Given the description of an element on the screen output the (x, y) to click on. 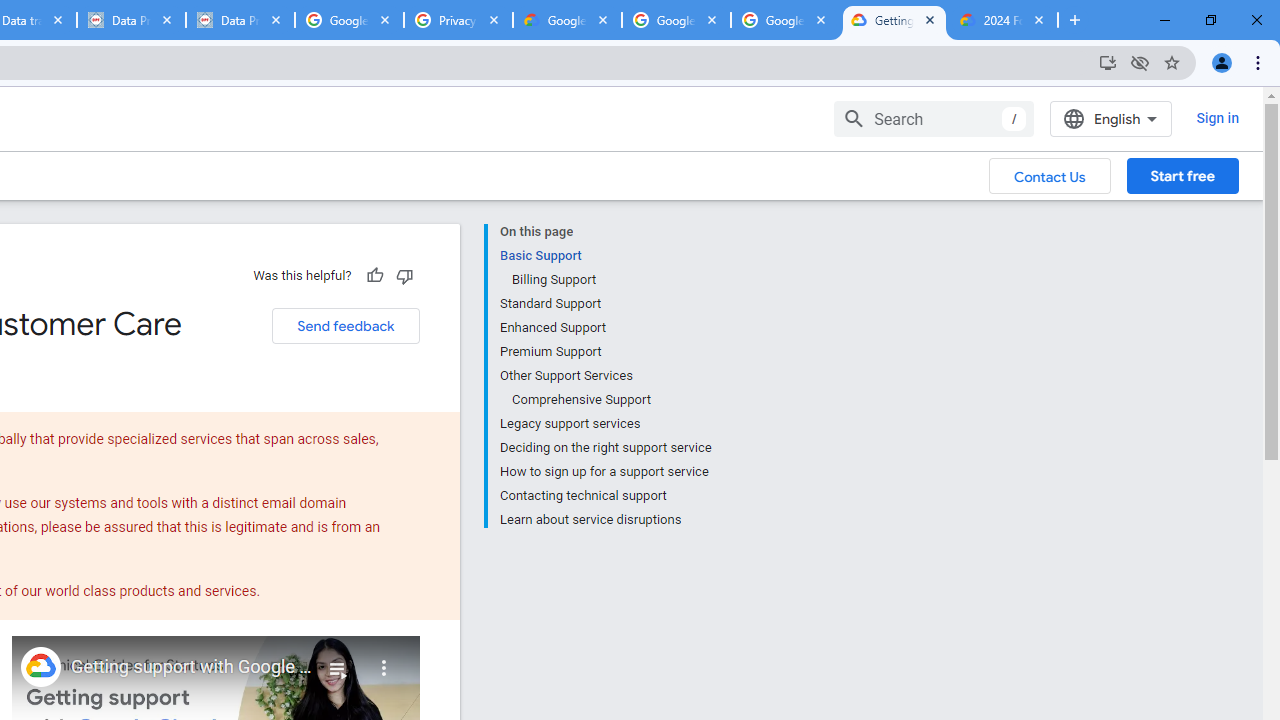
Contact Us (1050, 175)
Getting support with Google Cloud Customer Care (191, 667)
How to sign up for a support service (605, 471)
Google Cloud Terms Directory | Google Cloud (567, 20)
Standard Support (605, 304)
Helpful (374, 275)
Other Support Services (605, 376)
